Given the description of an element on the screen output the (x, y) to click on. 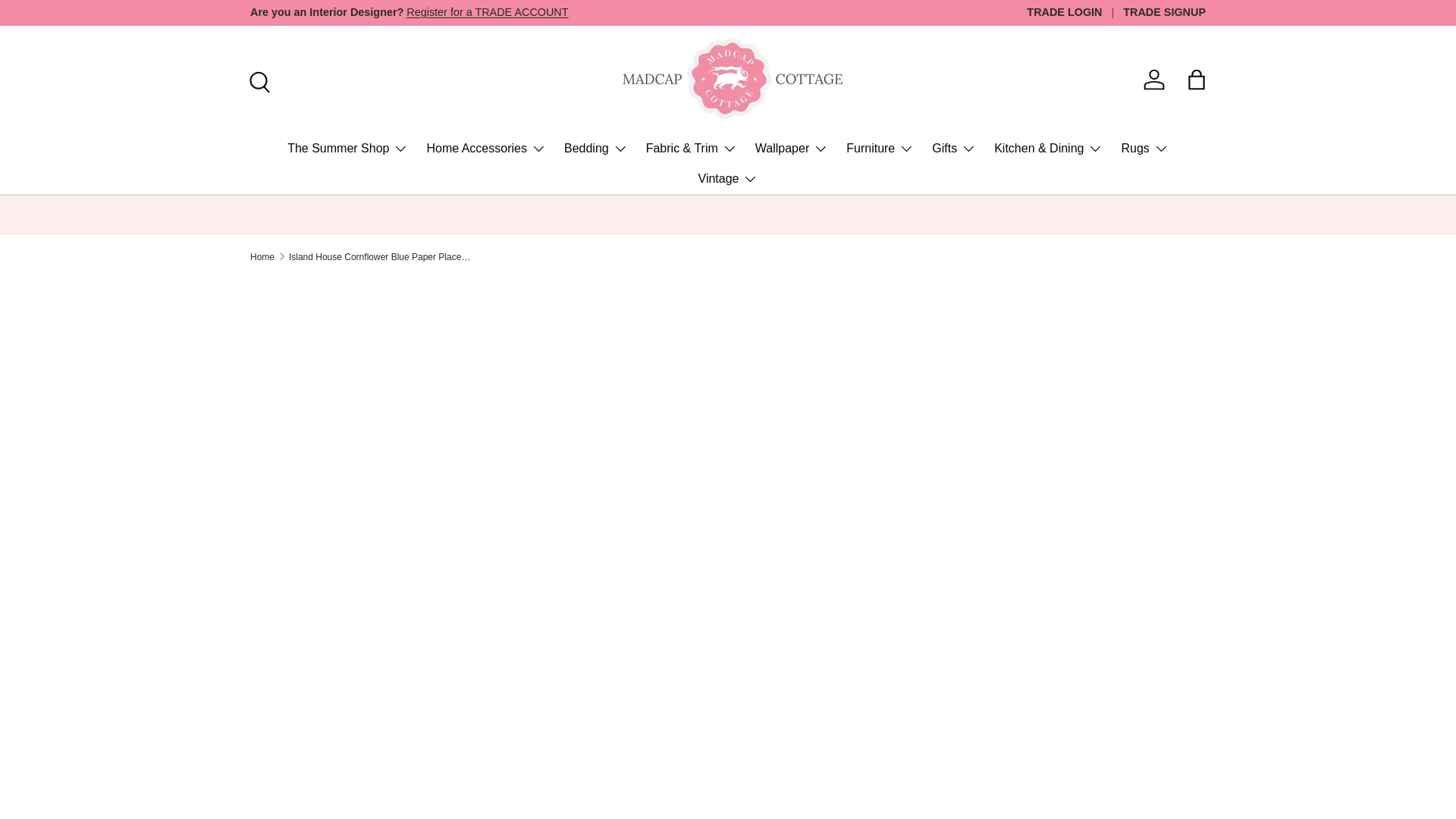
The Summer Shop (346, 148)
SKIP TO CONTENT (69, 21)
Register for a TRADE ACCOUNT (486, 11)
TRADE SIGNUP (1163, 12)
TRADE LOGIN (1074, 12)
Search (258, 80)
Log in (1153, 79)
Home Accessories (486, 148)
Welcome to the Madcap Cottage Trade Portal! (486, 11)
Bag (1195, 79)
